Given the description of an element on the screen output the (x, y) to click on. 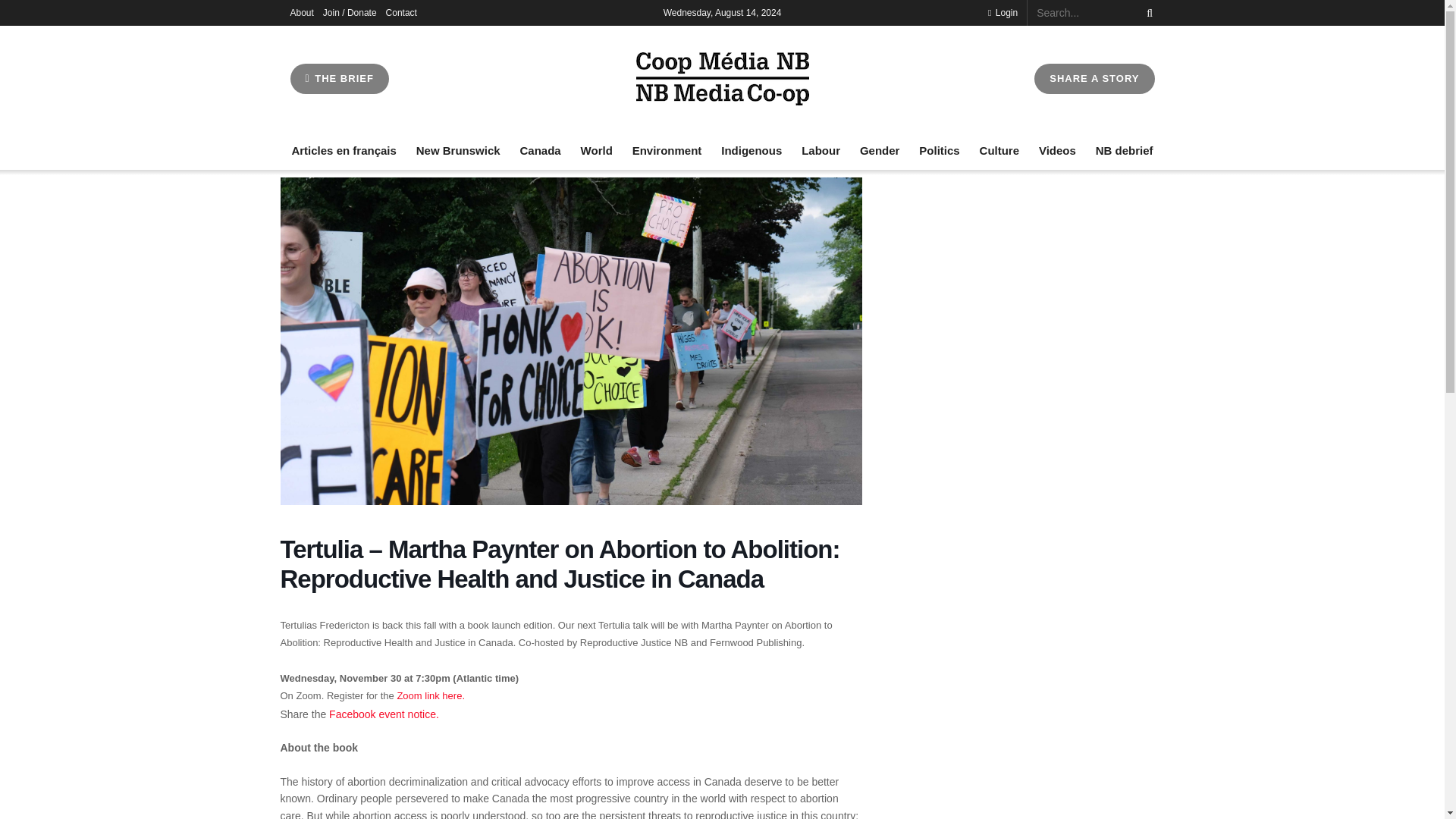
About (301, 12)
Politics (938, 150)
Zoom link here. (430, 695)
Environment (666, 150)
Culture (999, 150)
Contact (400, 12)
World (596, 150)
THE BRIEF (338, 78)
Videos (1056, 150)
SHARE A STORY (1093, 78)
